Given the description of an element on the screen output the (x, y) to click on. 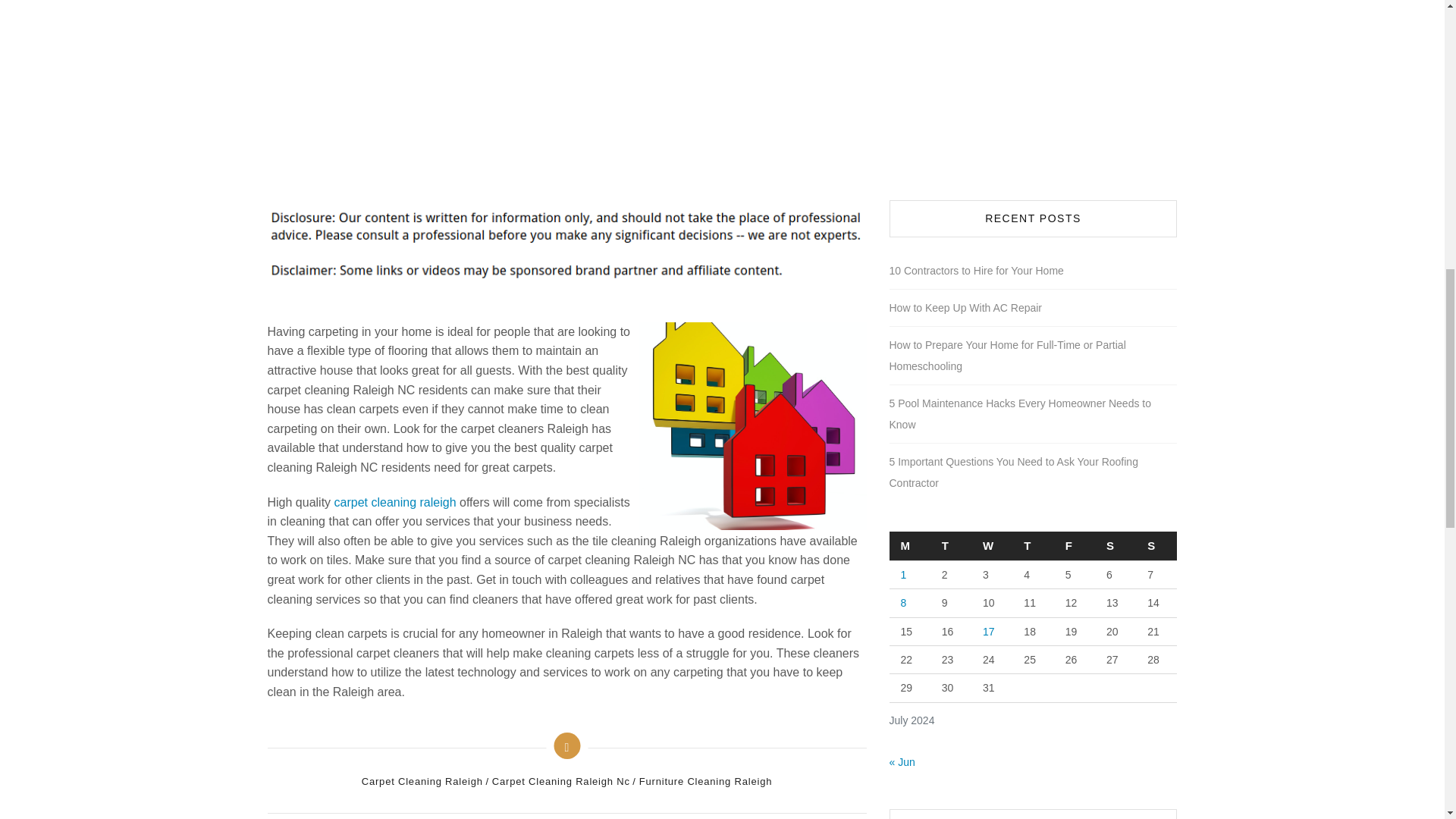
17 (988, 631)
How to Keep Up With AC Repair (965, 307)
Monday (909, 546)
10 Contractors to Hire for Your Home (975, 270)
5 Pool Maintenance Hacks Every Homeowner Needs to Know (1032, 413)
Wednesday (991, 546)
Tuesday (950, 546)
Friday (1074, 546)
Sunday (1155, 546)
Thursday (1031, 546)
carpet cleaning raleigh (395, 502)
Furniture Cleaning Raleigh (702, 781)
Carpet Cleaning Raleigh Nc (560, 781)
